Given the description of an element on the screen output the (x, y) to click on. 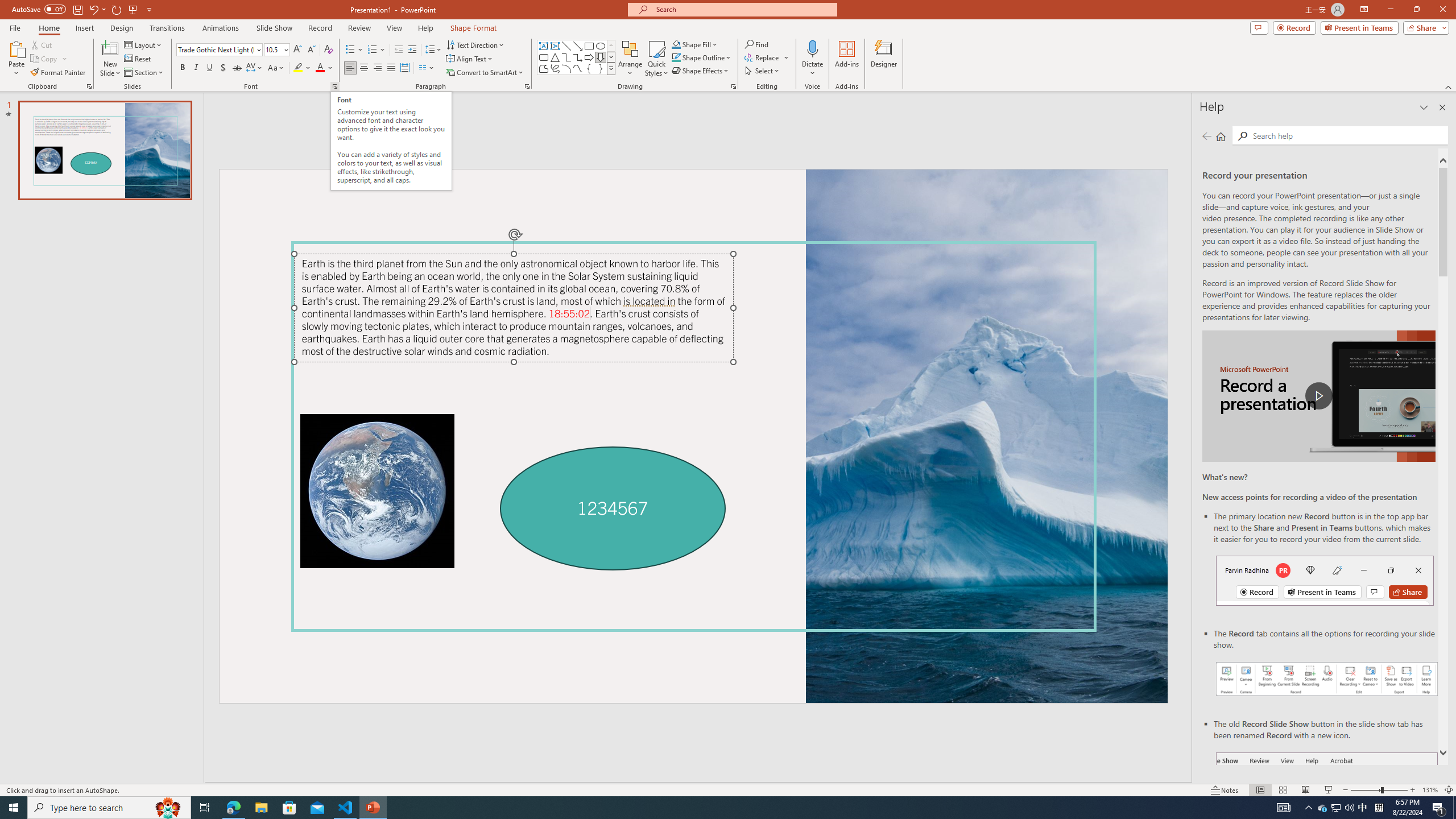
Shape Outline (701, 56)
Bullets (349, 49)
Row up (611, 45)
Align Left (349, 67)
Line (566, 45)
Open (285, 49)
Class: NetUIImage (610, 68)
Arrow: Right (589, 57)
Shape Fill (694, 44)
